Given the description of an element on the screen output the (x, y) to click on. 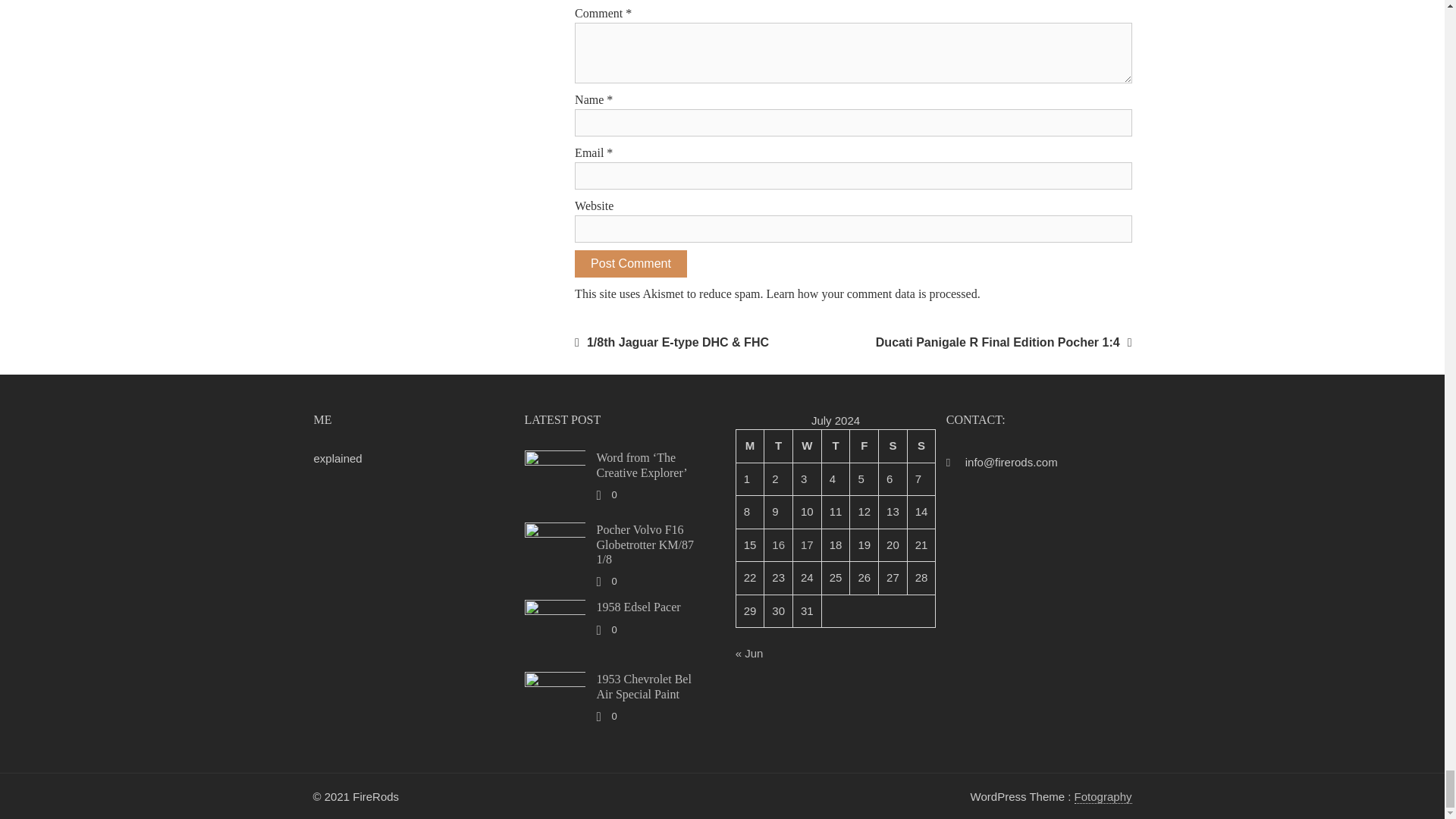
Post Comment (631, 263)
